Given the description of an element on the screen output the (x, y) to click on. 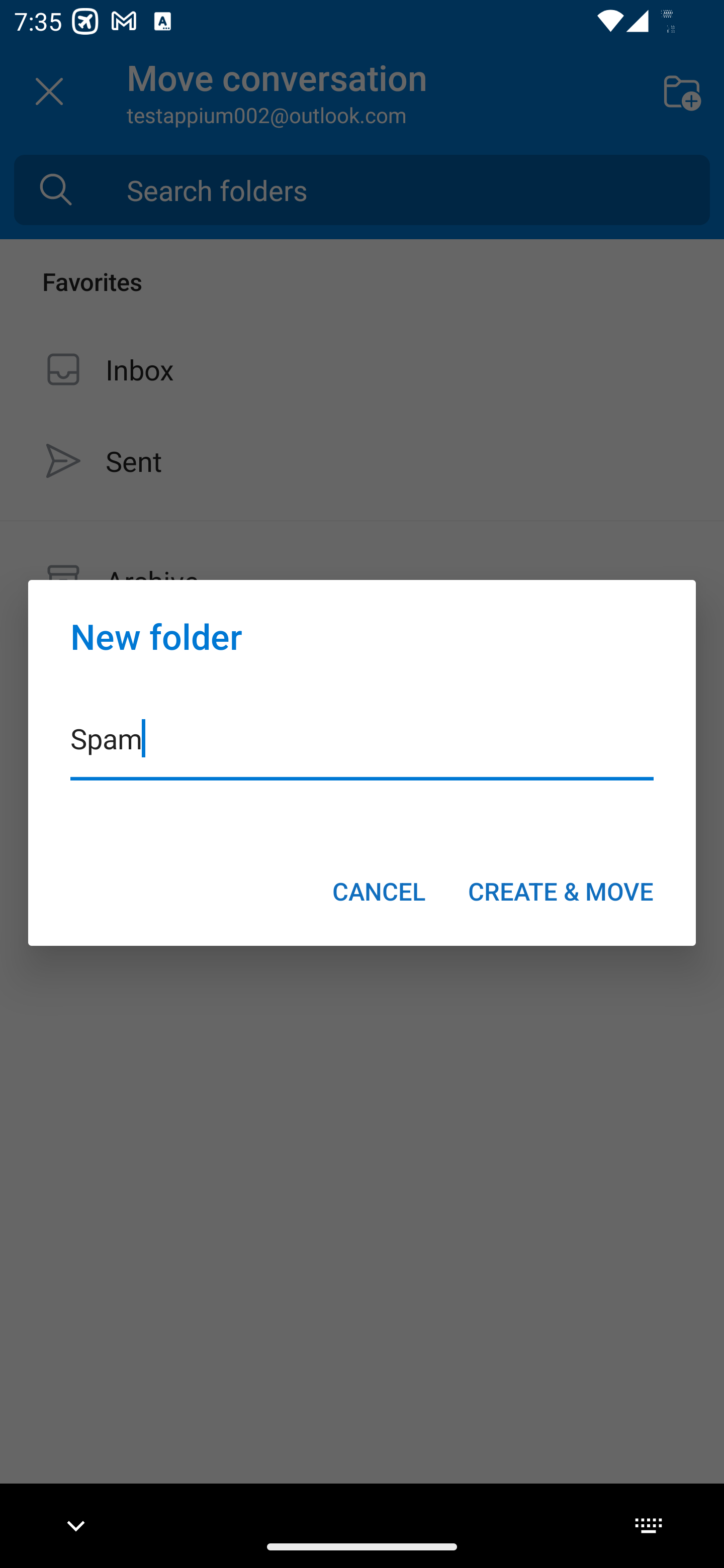
Spam (361, 750)
CANCEL (378, 891)
CREATE & MOVE (560, 891)
